Given the description of an element on the screen output the (x, y) to click on. 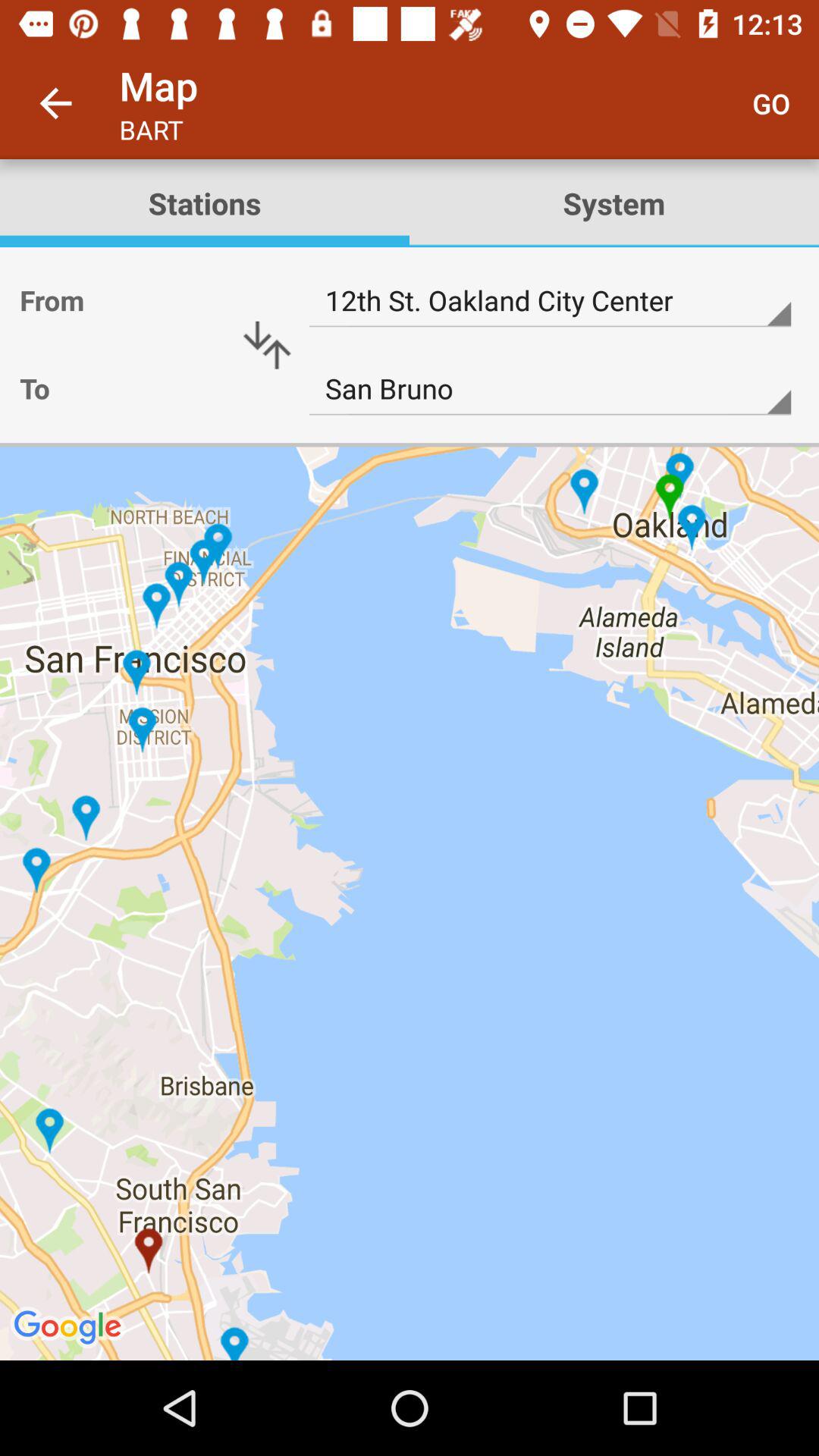
choose icon below the stations icon (267, 345)
